Given the description of an element on the screen output the (x, y) to click on. 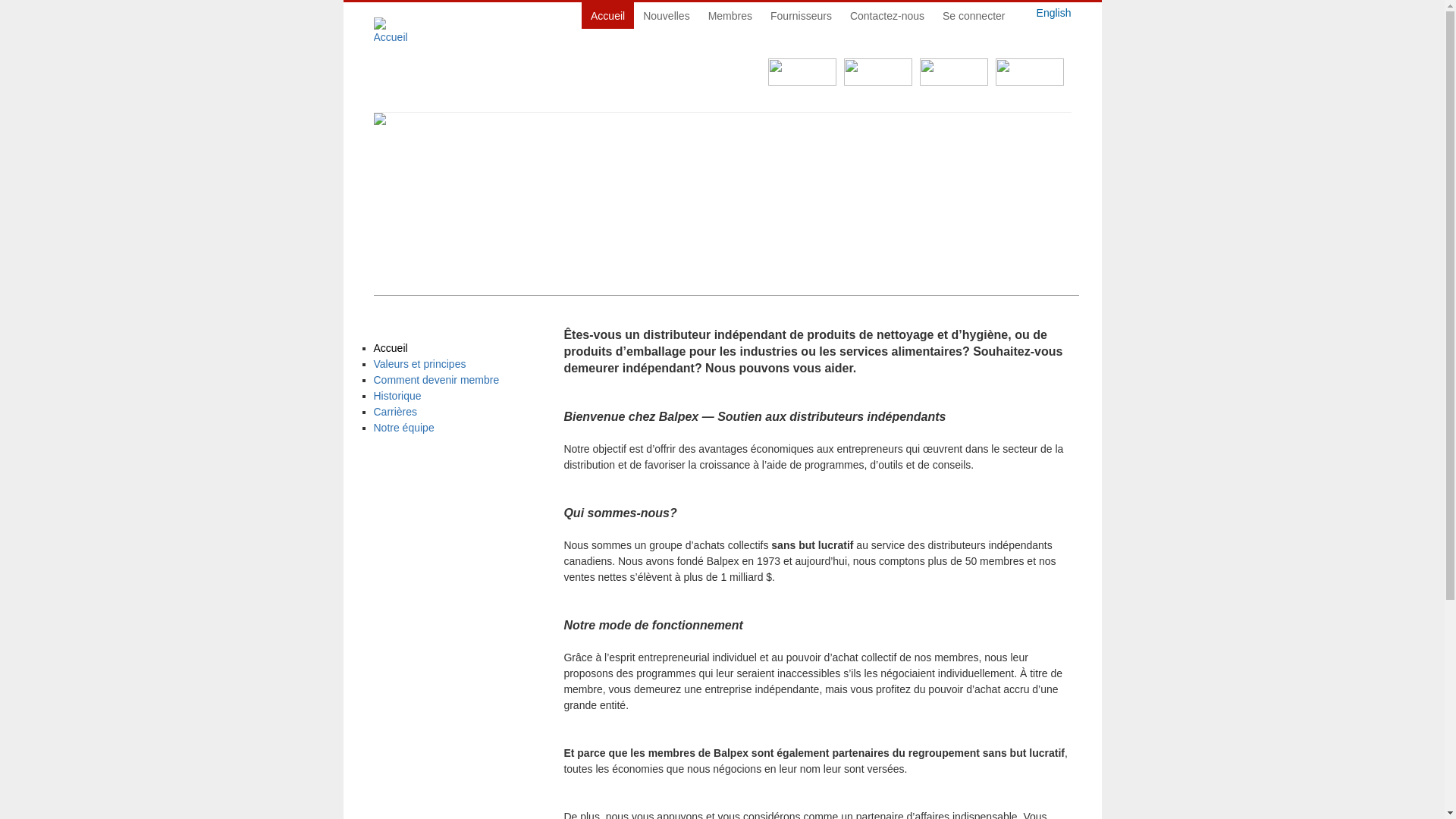
Comment devenir membre Element type: text (435, 379)
Valeurs et principes Element type: text (419, 363)
Accueil Element type: text (390, 348)
Membres Element type: text (730, 15)
Nouvelles Element type: text (665, 15)
Se connecter Element type: text (973, 15)
Historique Element type: text (396, 395)
Fournisseurs Element type: text (800, 15)
1 Element type: text (725, 306)
English Element type: text (1053, 12)
Contactez-nous Element type: text (886, 15)
Accueil Element type: text (607, 15)
